Given the description of an element on the screen output the (x, y) to click on. 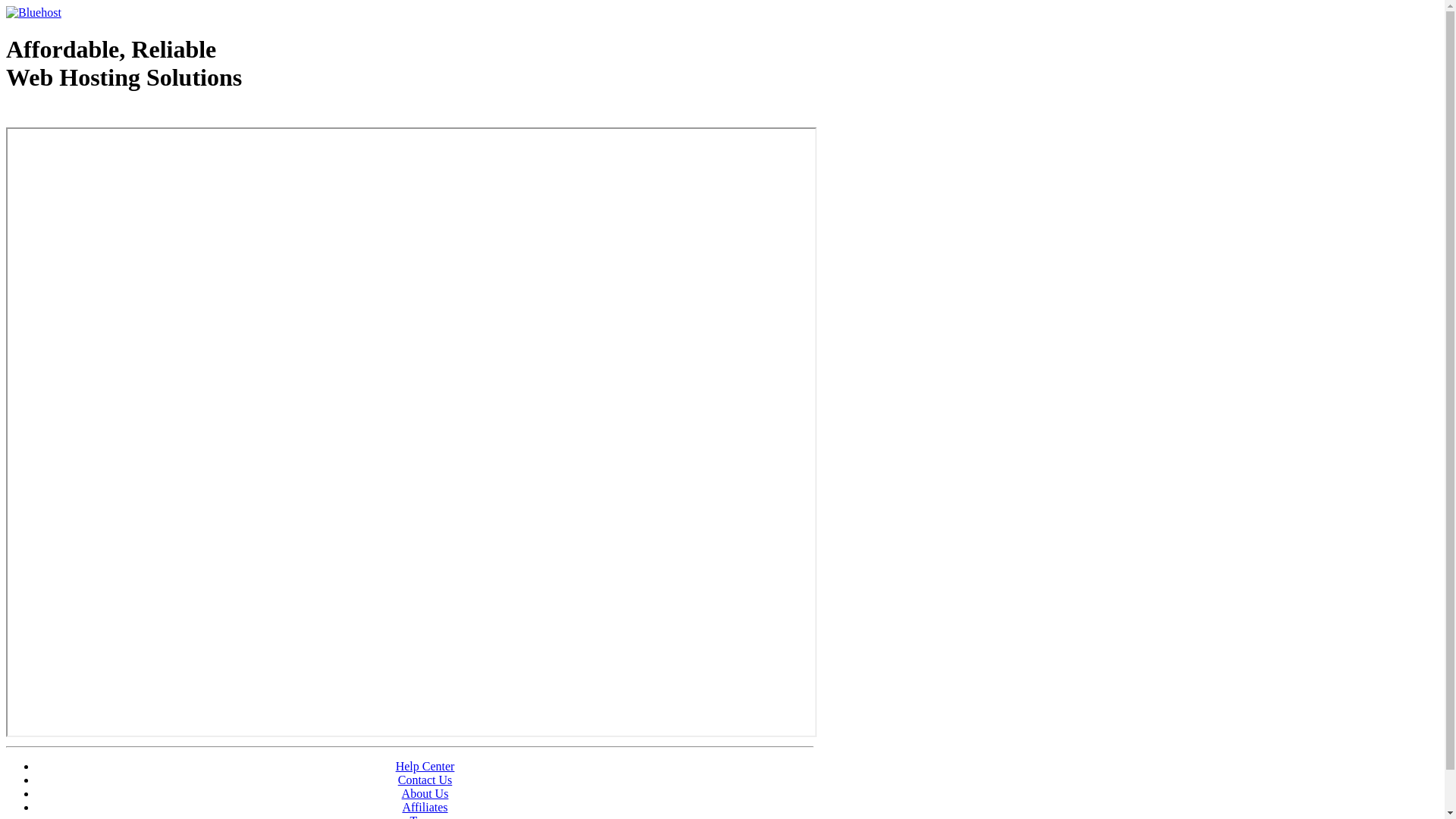
Help Center Element type: text (425, 765)
Affiliates Element type: text (424, 806)
Web Hosting - courtesy of www.bluehost.com Element type: text (94, 115)
Contact Us Element type: text (425, 779)
About Us Element type: text (424, 793)
